Given the description of an element on the screen output the (x, y) to click on. 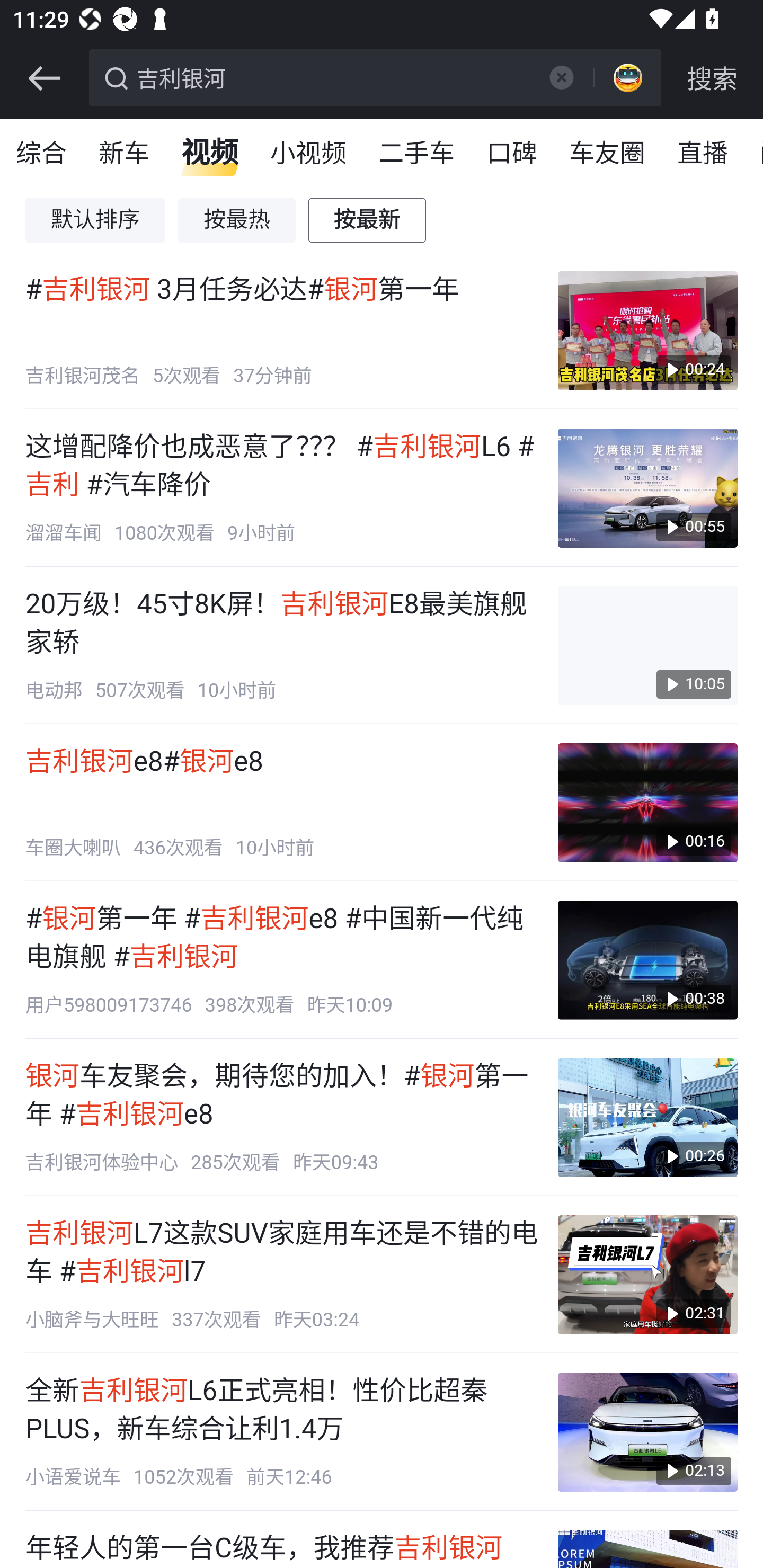
吉利银河 (331, 76)
 (560, 77)
 (44, 78)
搜索 (711, 78)
综合 (41, 153)
新车 (124, 153)
视频 (210, 153)
小视频 (308, 153)
二手车 (417, 153)
口碑 (512, 153)
车友圈 (608, 153)
直播 (703, 153)
默认排序 (96, 220)
按最热 (237, 220)
按最新 (367, 220)
# 吉利银河  3月任务必达# 银河 第一年 吉利银河茂名 5次观看 37分钟前 (281, 330)
00:24 (647, 330)
00:55 (647, 487)
20万级！45寸8K屏！ 吉利银河 E8最美旗舰家轿 电动邦 507次观看 10小时前 (281, 645)
10:05 (647, 645)
吉利银河 e8# 银河 e8 车圈大喇叭 436次观看 10小时前 (281, 802)
00:16 (647, 802)
00:38 (647, 959)
00:26 (647, 1117)
02:31 (647, 1274)
02:13 (647, 1431)
年轻人的第一台C级车，我推荐 吉利银河 (281, 1549)
